Given the description of an element on the screen output the (x, y) to click on. 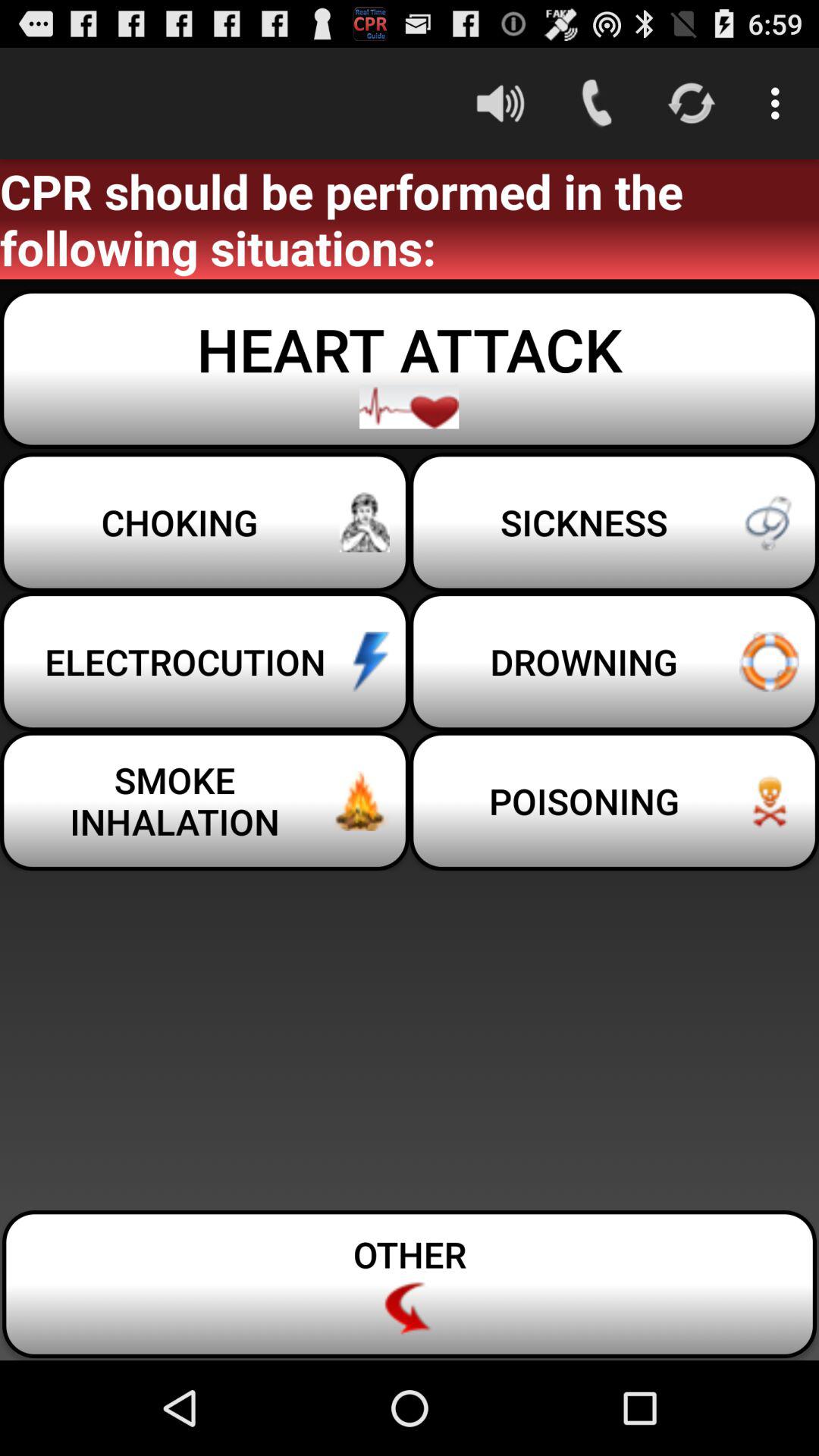
open the icon below the electrocution (614, 800)
